Given the description of an element on the screen output the (x, y) to click on. 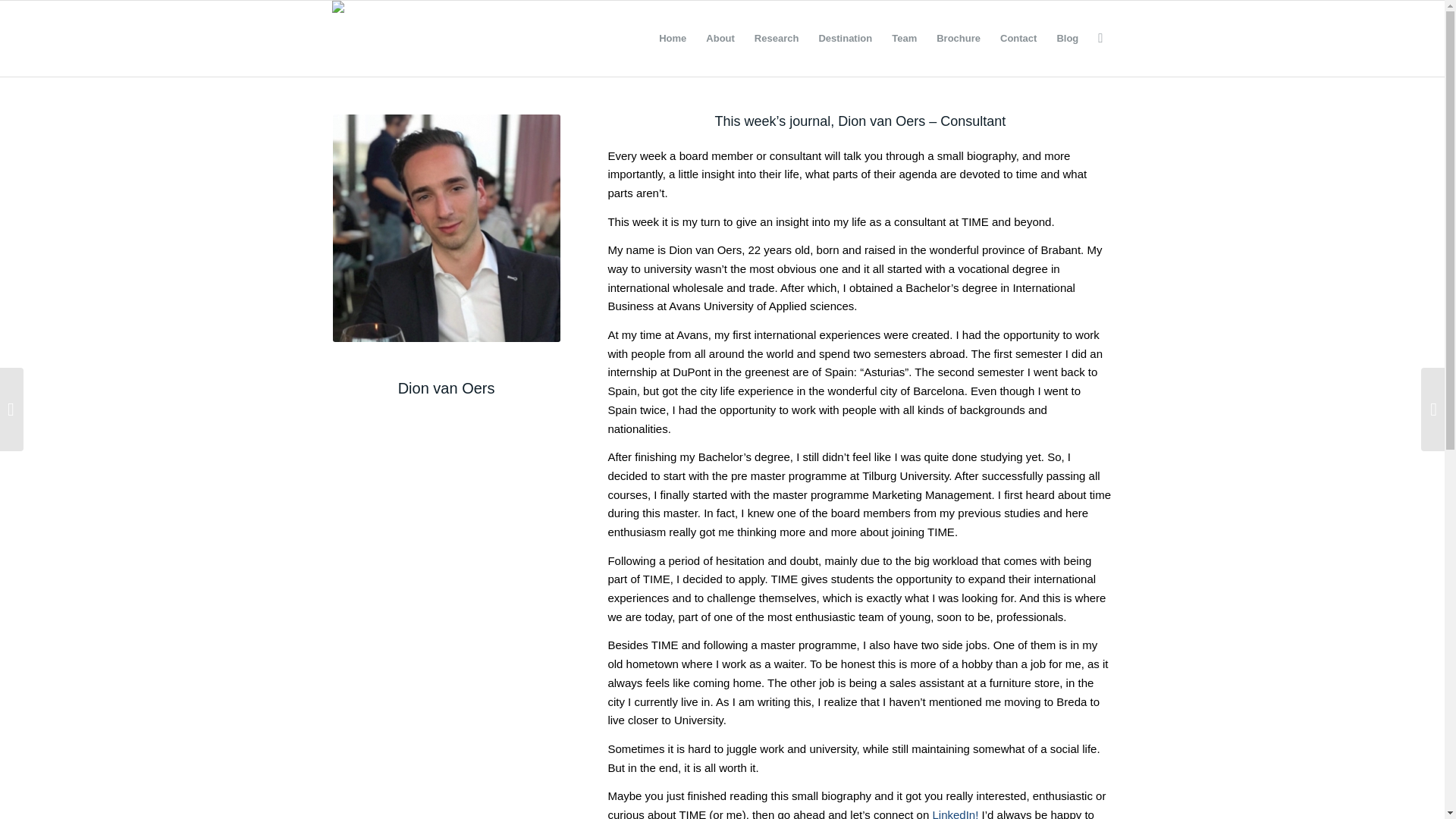
DionFotoWebsite (446, 228)
Destination (845, 38)
LinkedIn! (954, 813)
